Given the description of an element on the screen output the (x, y) to click on. 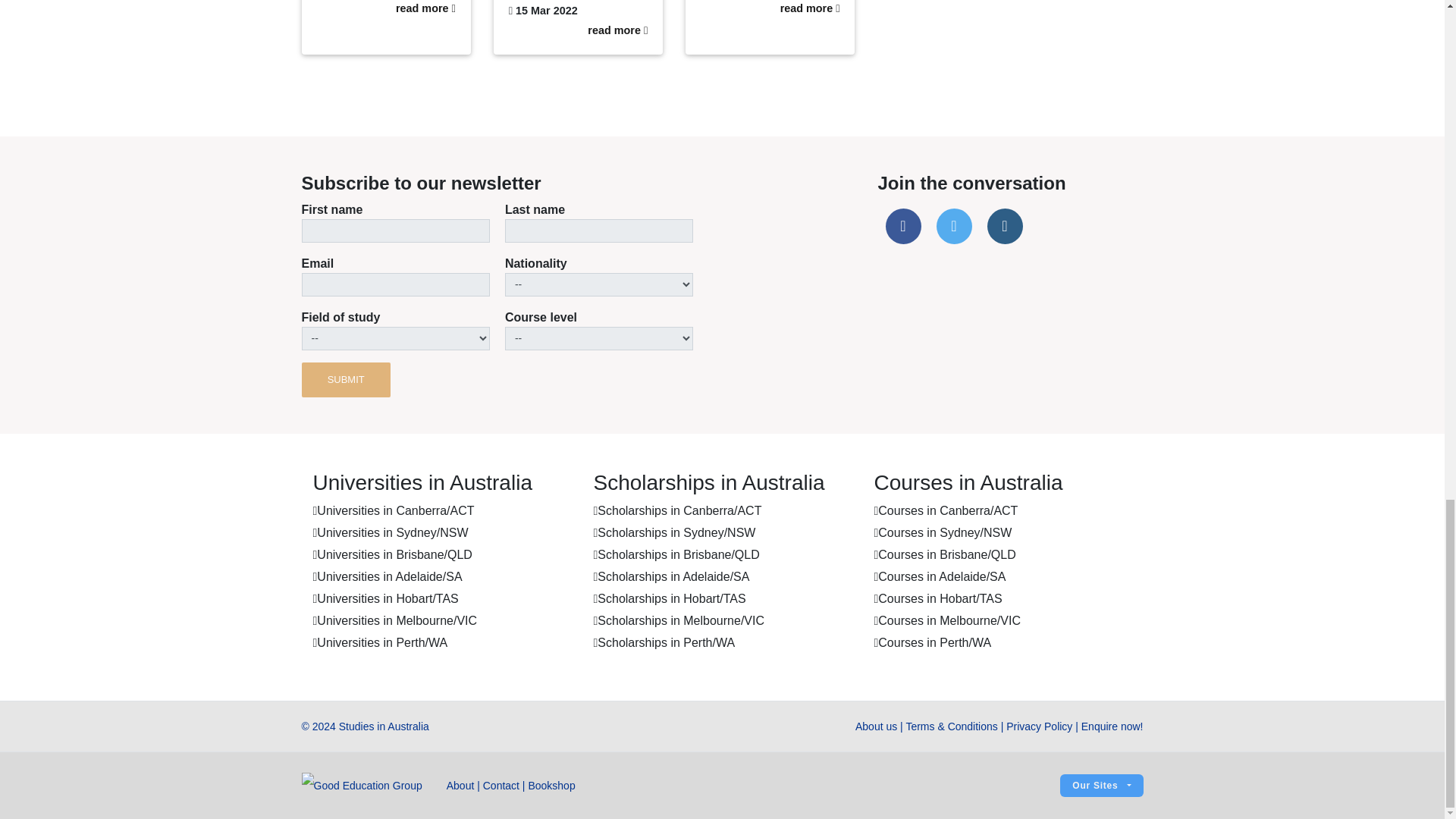
read more (617, 30)
read more (810, 8)
read more (425, 8)
SUBMIT (345, 379)
